Given the description of an element on the screen output the (x, y) to click on. 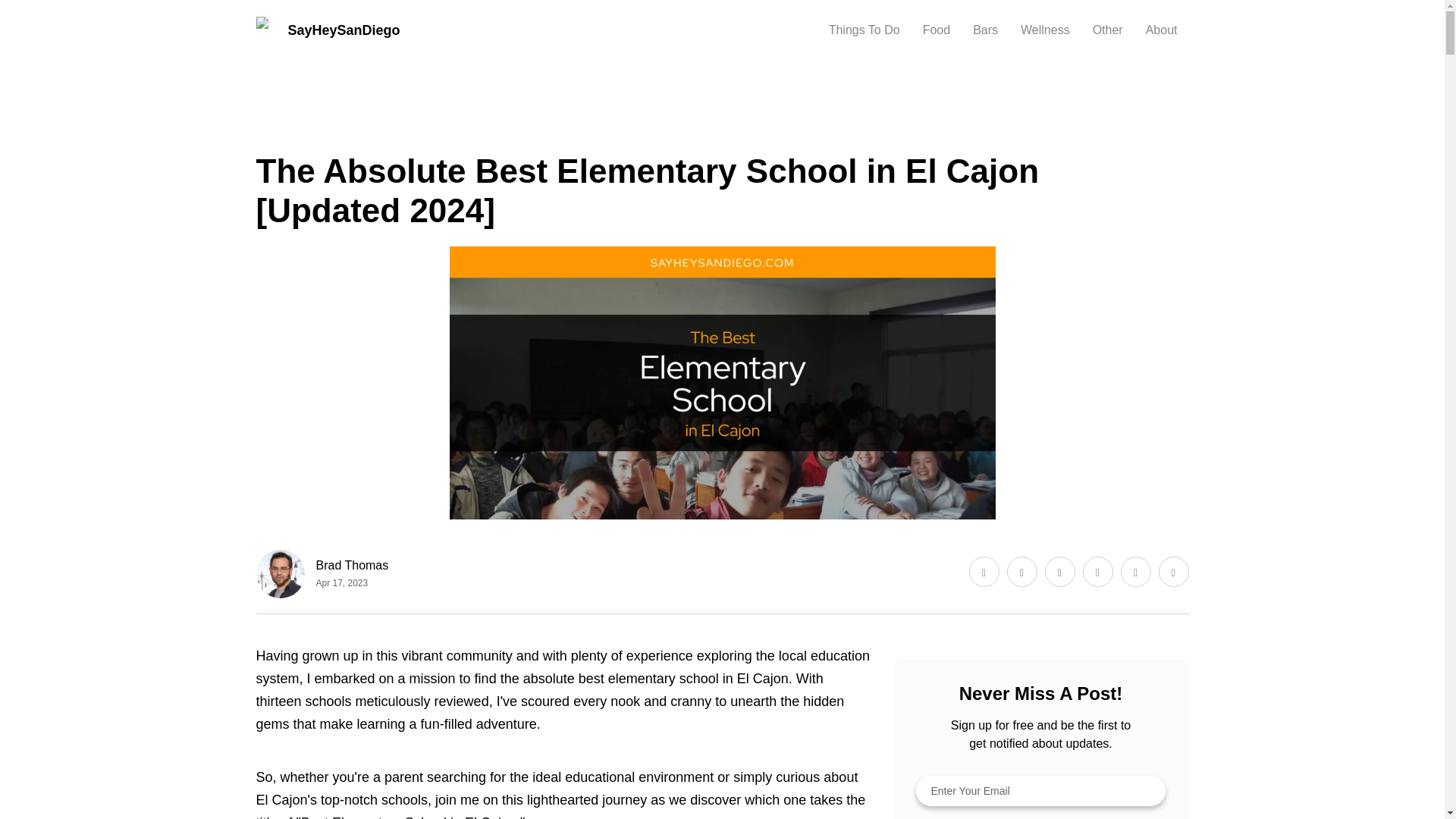
SayHeySanDiego (328, 30)
Wellness (277, 128)
Brad Thomas (351, 565)
Things To Do (863, 30)
